Given the description of an element on the screen output the (x, y) to click on. 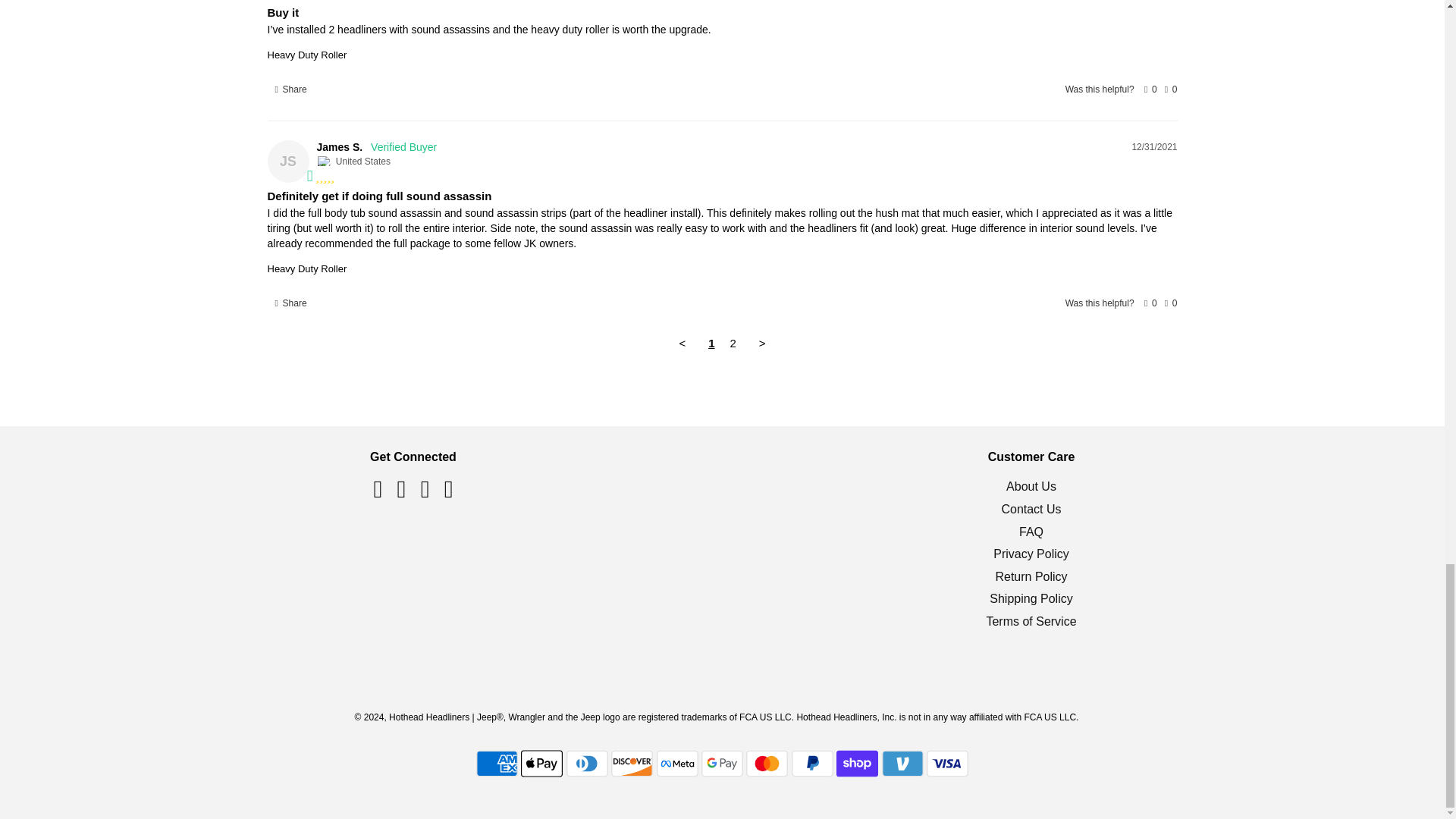
Shop Pay (856, 763)
Visa (947, 763)
PayPal (812, 763)
Google Pay (721, 763)
Apple Pay (541, 763)
Diners Club (587, 763)
Meta Pay (677, 763)
Venmo (902, 763)
Mastercard (766, 763)
American Express (497, 763)
